Given the description of an element on the screen output the (x, y) to click on. 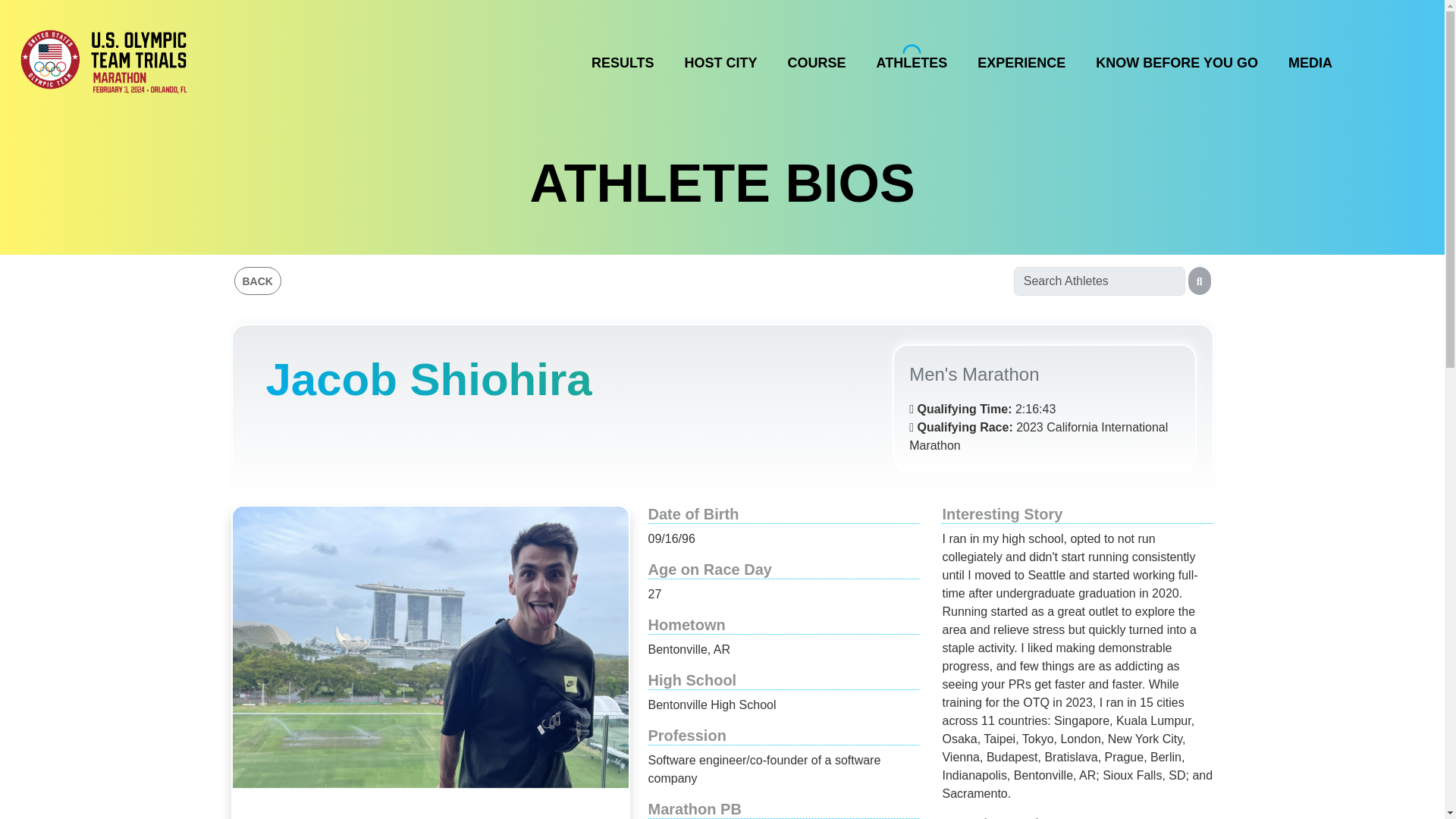
KNOW BEFORE YOU GO (1176, 57)
RESULTS (622, 57)
ATHLETES (911, 57)
EXPERIENCE (1020, 57)
COURSE (816, 57)
MEDIA (1310, 57)
BACK (256, 280)
HOST CITY (720, 57)
